Given the description of an element on the screen output the (x, y) to click on. 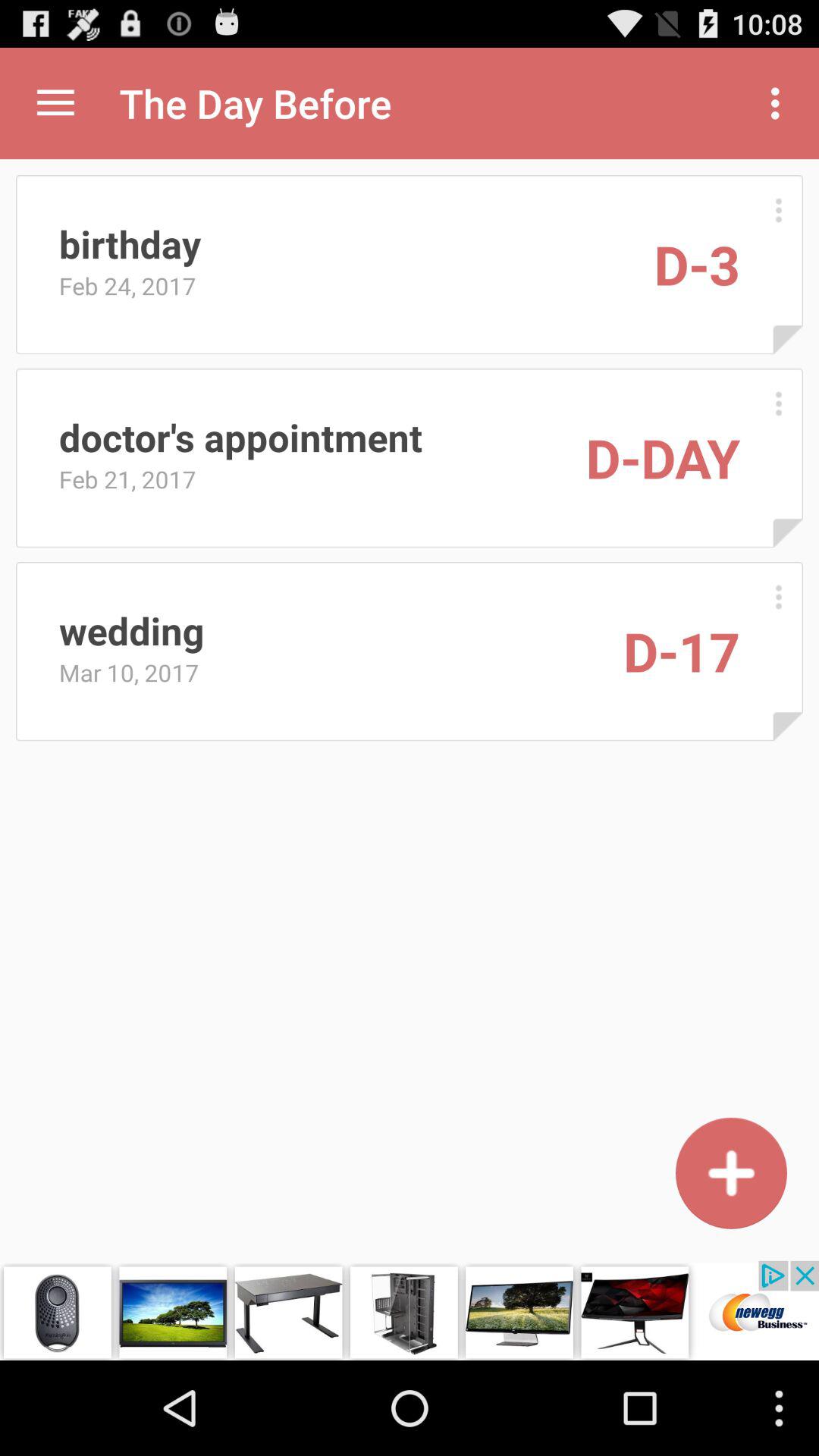
three points (777, 403)
